Given the description of an element on the screen output the (x, y) to click on. 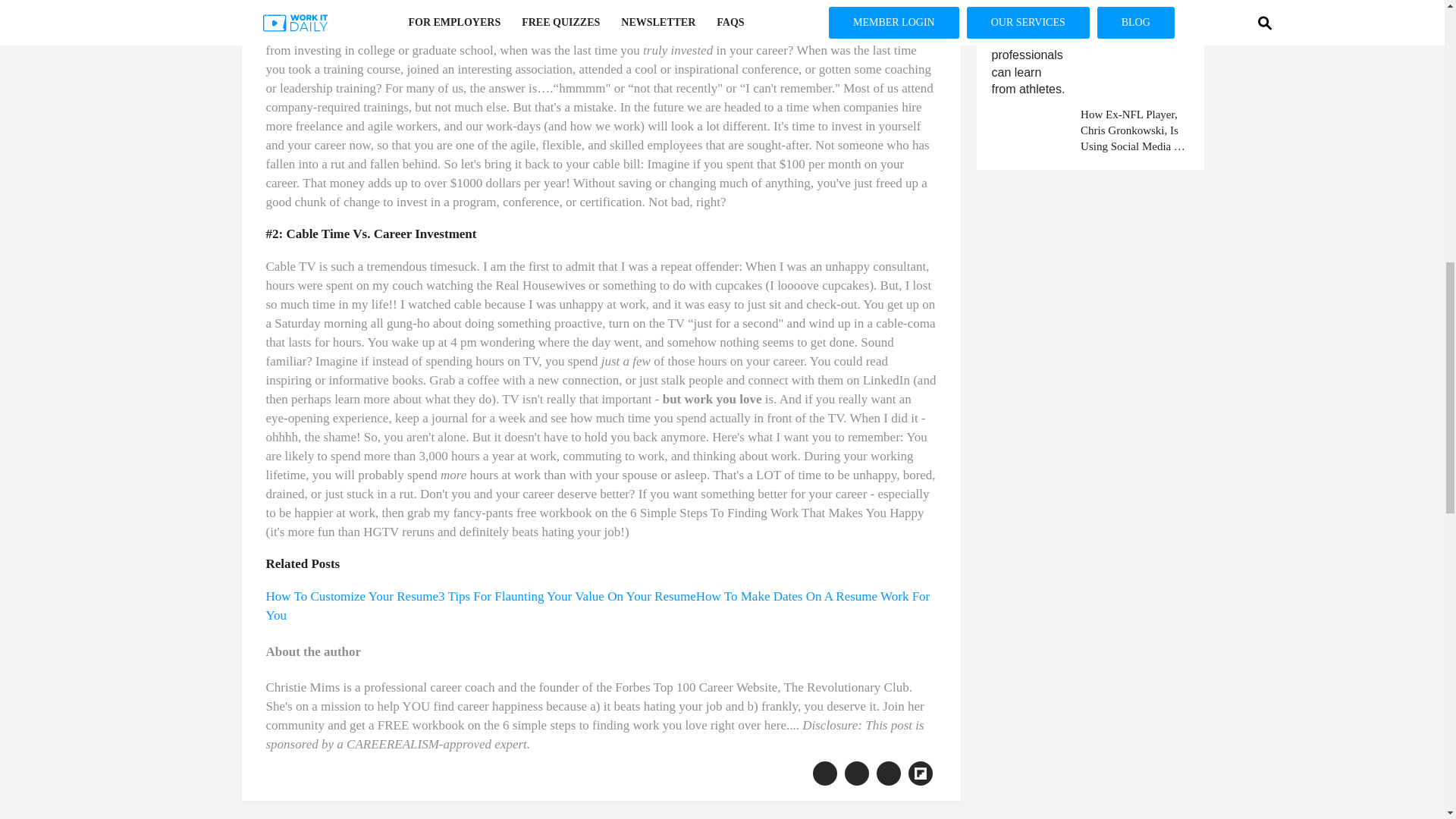
How To Make Dates On A Resume Work For You (597, 605)
3 Tips For Flaunting Your Value On Your Resume (566, 595)
How To Customize Your Resume (351, 595)
